Given the description of an element on the screen output the (x, y) to click on. 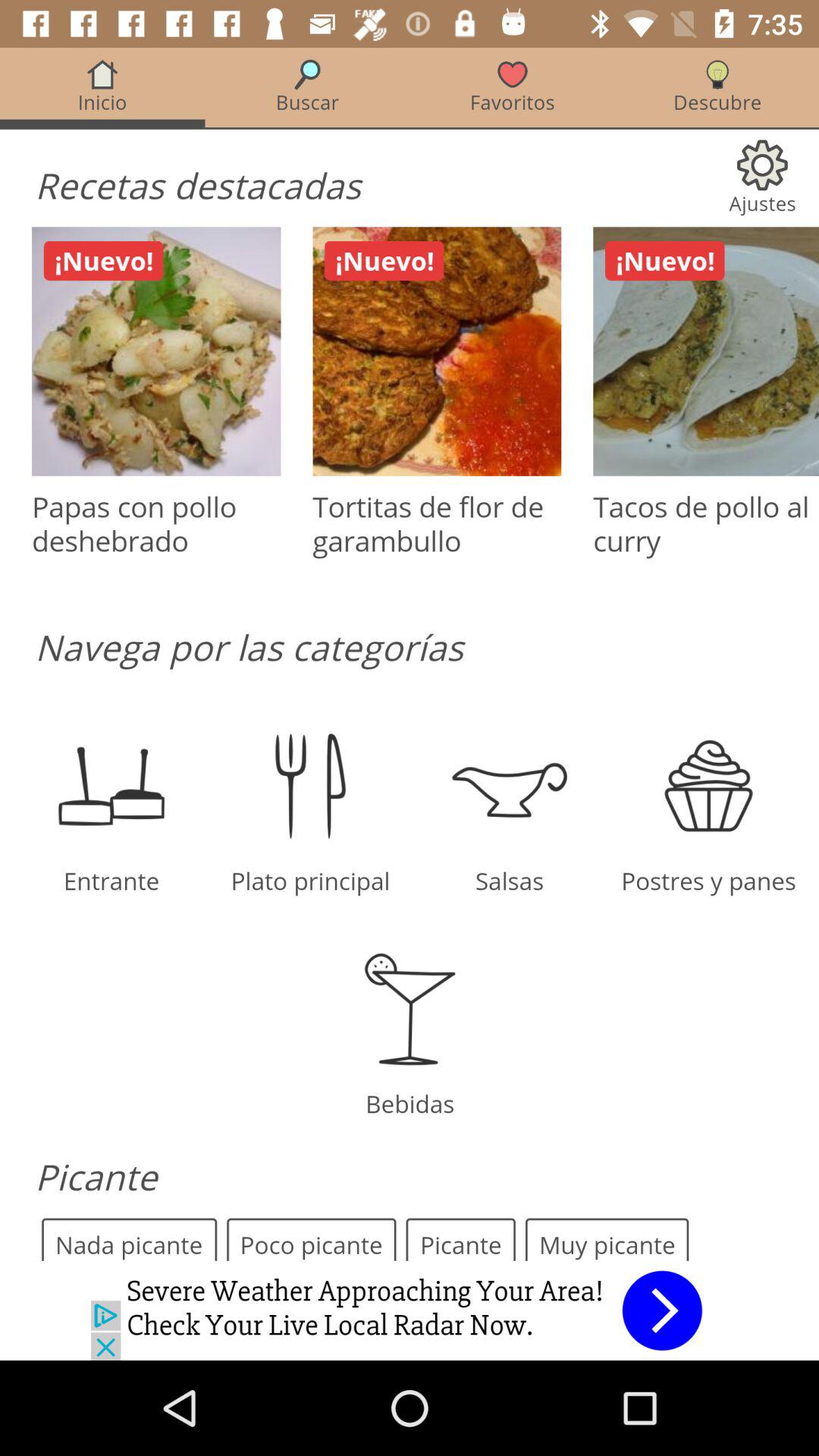
open advertisement (409, 1310)
